Given the description of an element on the screen output the (x, y) to click on. 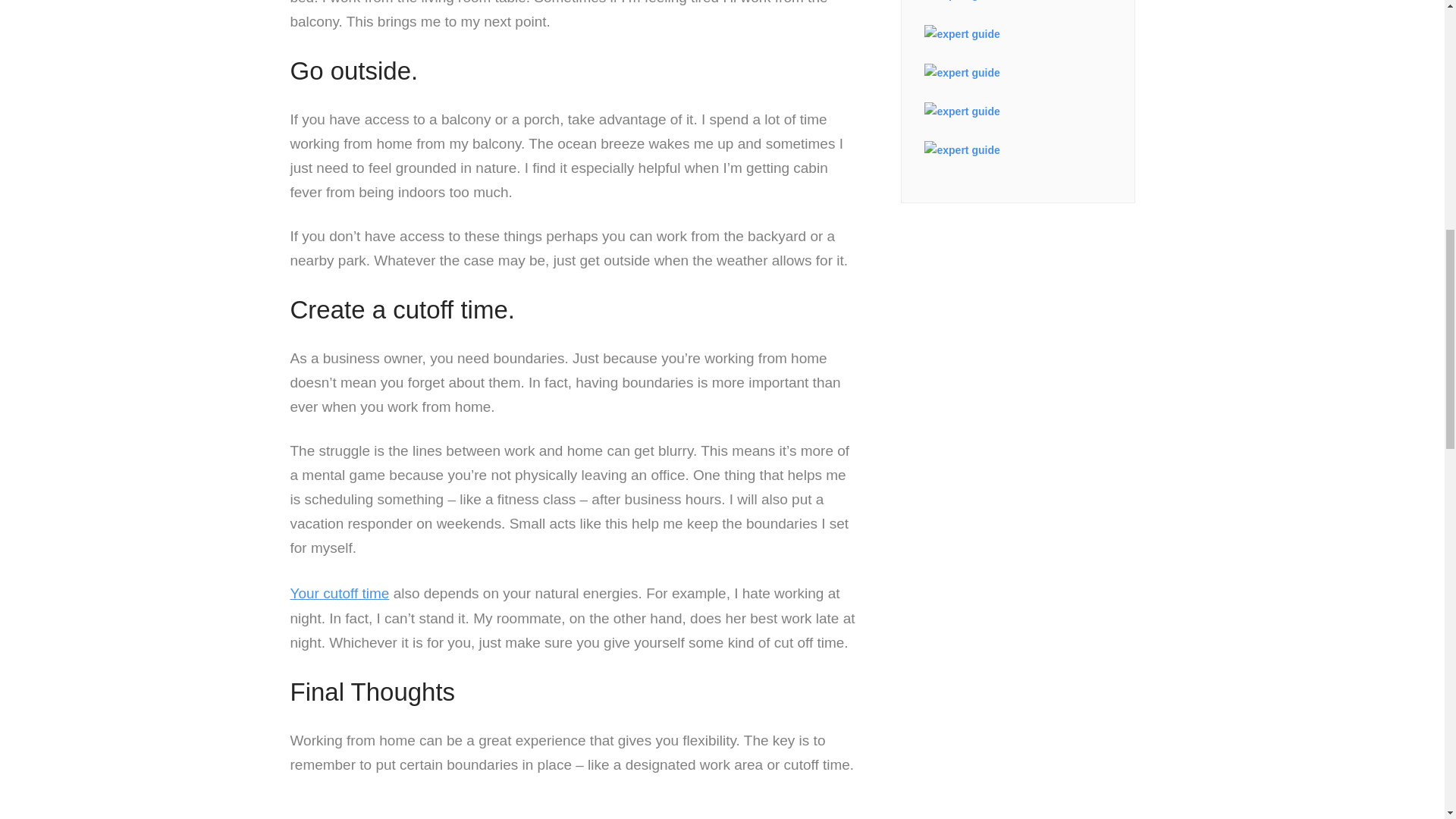
Your cutoff time (338, 593)
